Given the description of an element on the screen output the (x, y) to click on. 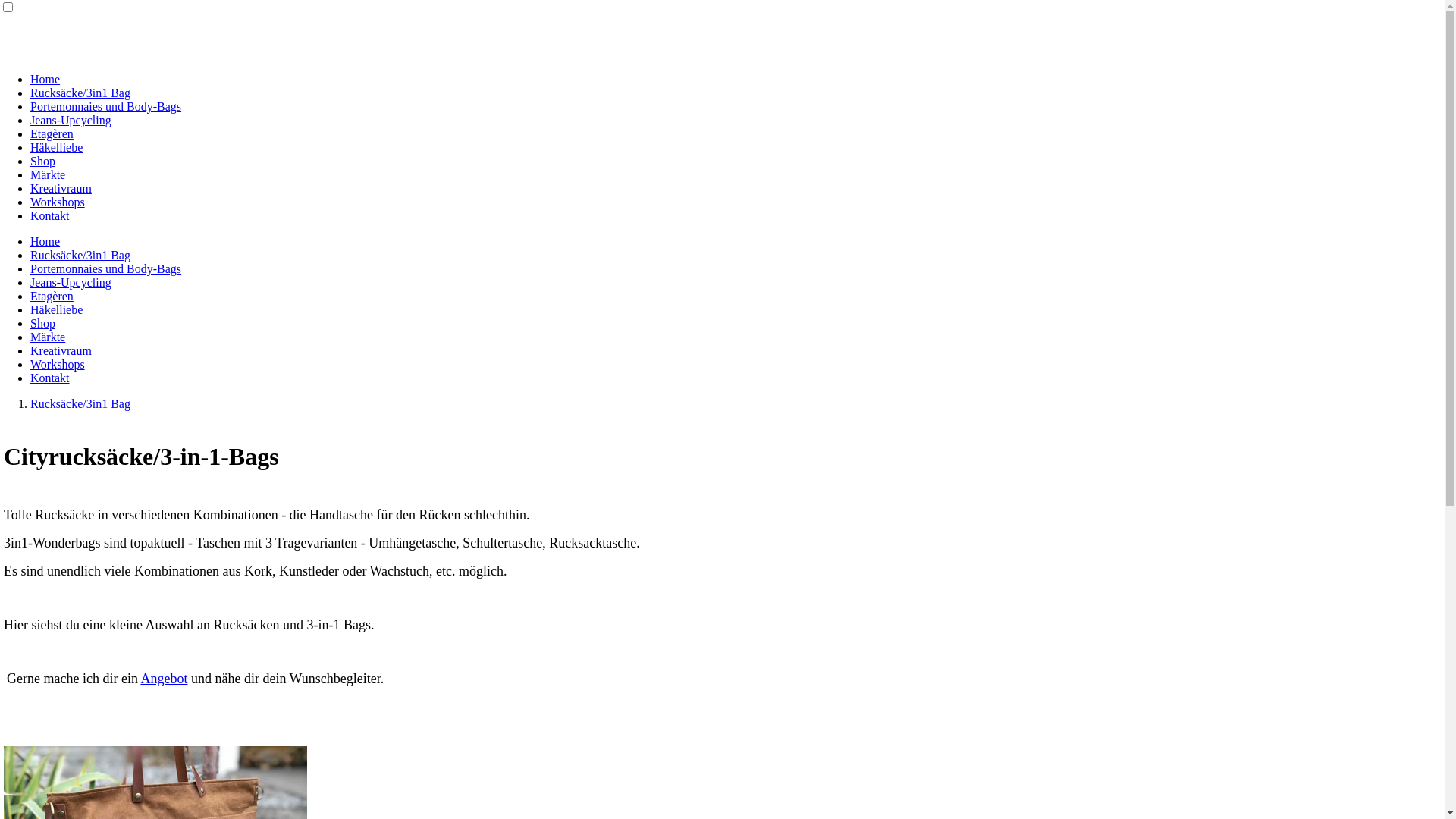
Angebot Element type: text (163, 678)
Workshops Element type: text (57, 201)
Home Element type: text (44, 241)
Kreativraum Element type: text (60, 188)
Kreativraum Element type: text (60, 350)
Jeans-Upcycling Element type: text (70, 119)
Kontakt Element type: text (49, 215)
Kontakt Element type: text (49, 377)
Portemonnaies und Body-Bags Element type: text (105, 106)
Workshops Element type: text (57, 363)
Shop Element type: text (42, 322)
Home Element type: text (44, 78)
Shop Element type: text (42, 160)
Portemonnaies und Body-Bags Element type: text (105, 268)
Jeans-Upcycling Element type: text (70, 282)
